Given the description of an element on the screen output the (x, y) to click on. 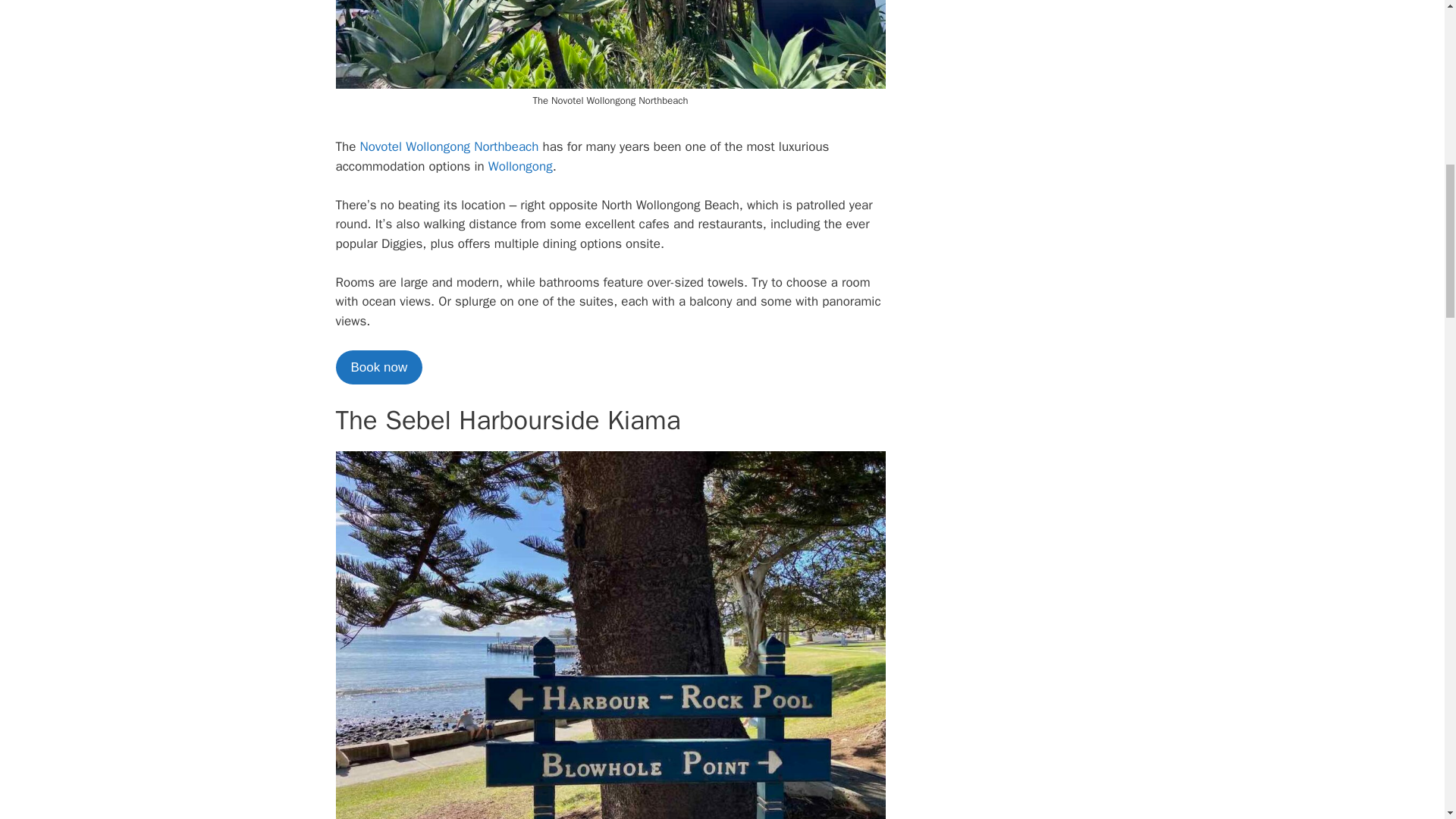
Scroll back to top (1406, 720)
Wollongong (520, 166)
Novotel Wollongong Northbeach (448, 146)
Book now (378, 367)
